Given the description of an element on the screen output the (x, y) to click on. 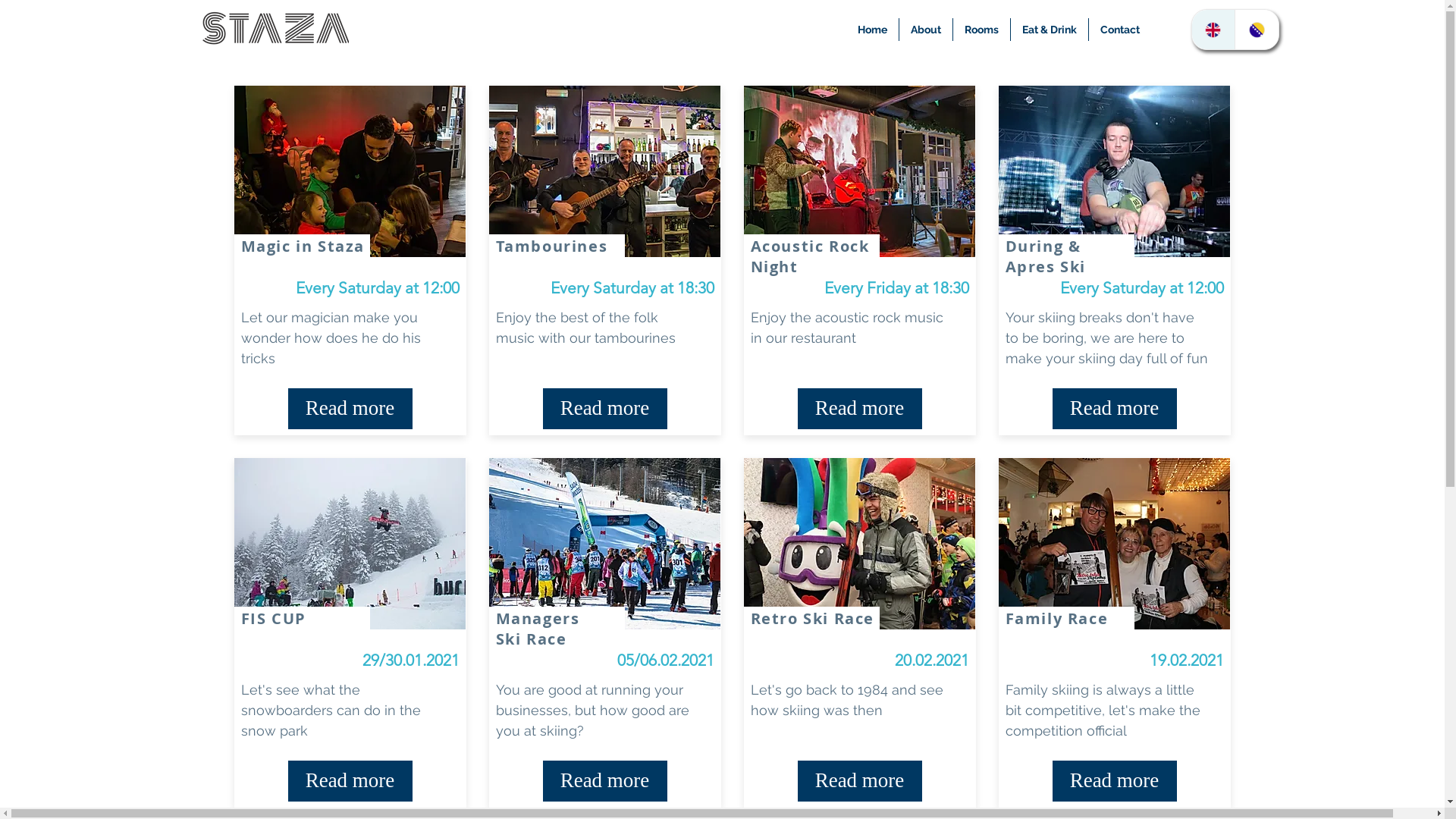
About Element type: text (925, 29)
Eat & Drink Element type: text (1048, 29)
Home Element type: text (872, 29)
Read more Element type: text (604, 408)
Read more Element type: text (350, 780)
Rooms Element type: text (980, 29)
Read more Element type: text (1114, 408)
Wix Chat Element type: hover (1304, 782)
Read more Element type: text (1114, 780)
Read more Element type: text (604, 780)
Read more Element type: text (859, 780)
Read more Element type: text (859, 408)
Contact Element type: text (1119, 29)
Read more Element type: text (350, 408)
